Given the description of an element on the screen output the (x, y) to click on. 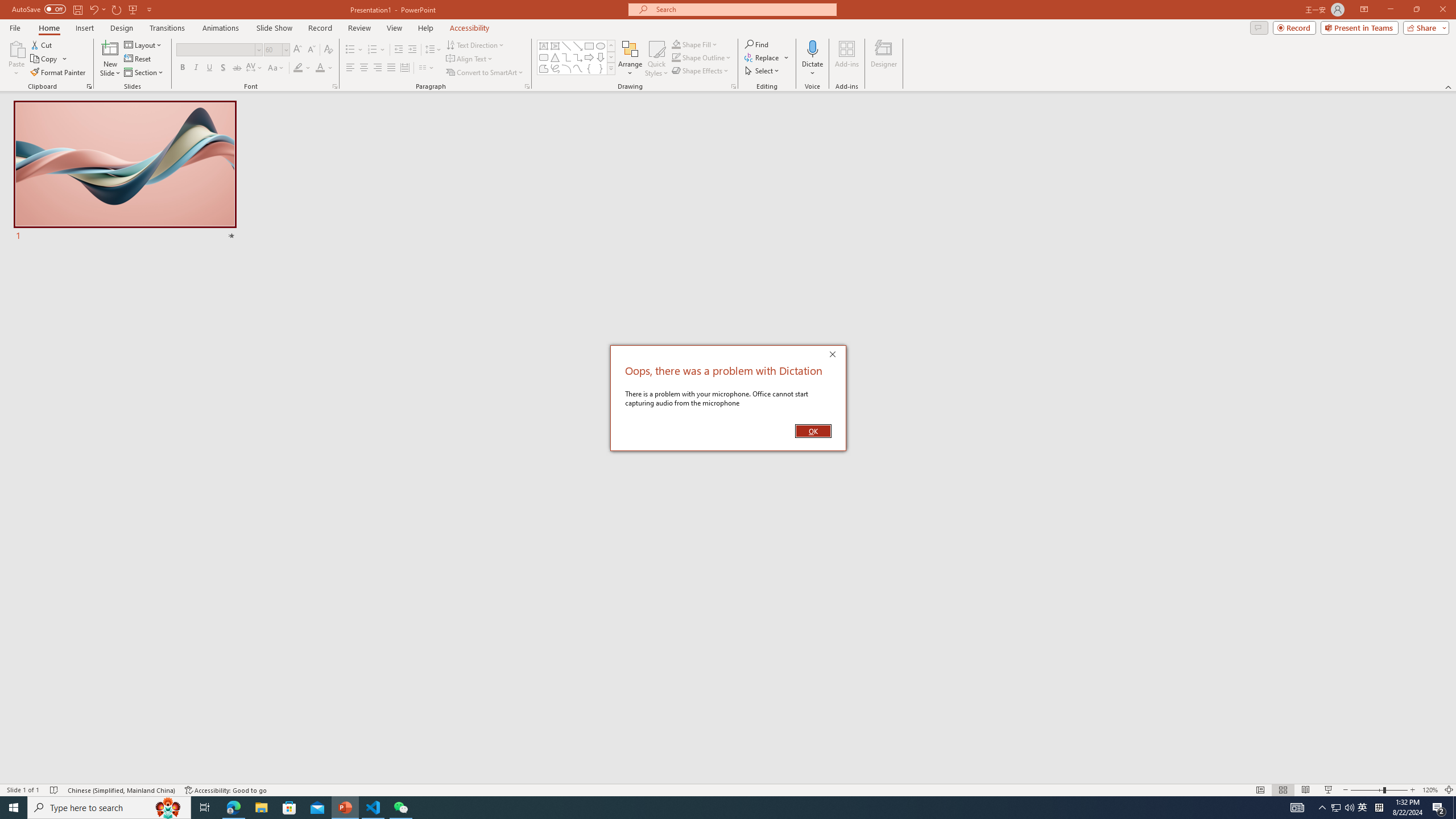
Format Object... (733, 85)
OK (812, 431)
Layout (143, 44)
Decrease Font Size (310, 49)
Line (566, 45)
Font... (334, 85)
Search highlights icon opens search home window (167, 807)
